Given the description of an element on the screen output the (x, y) to click on. 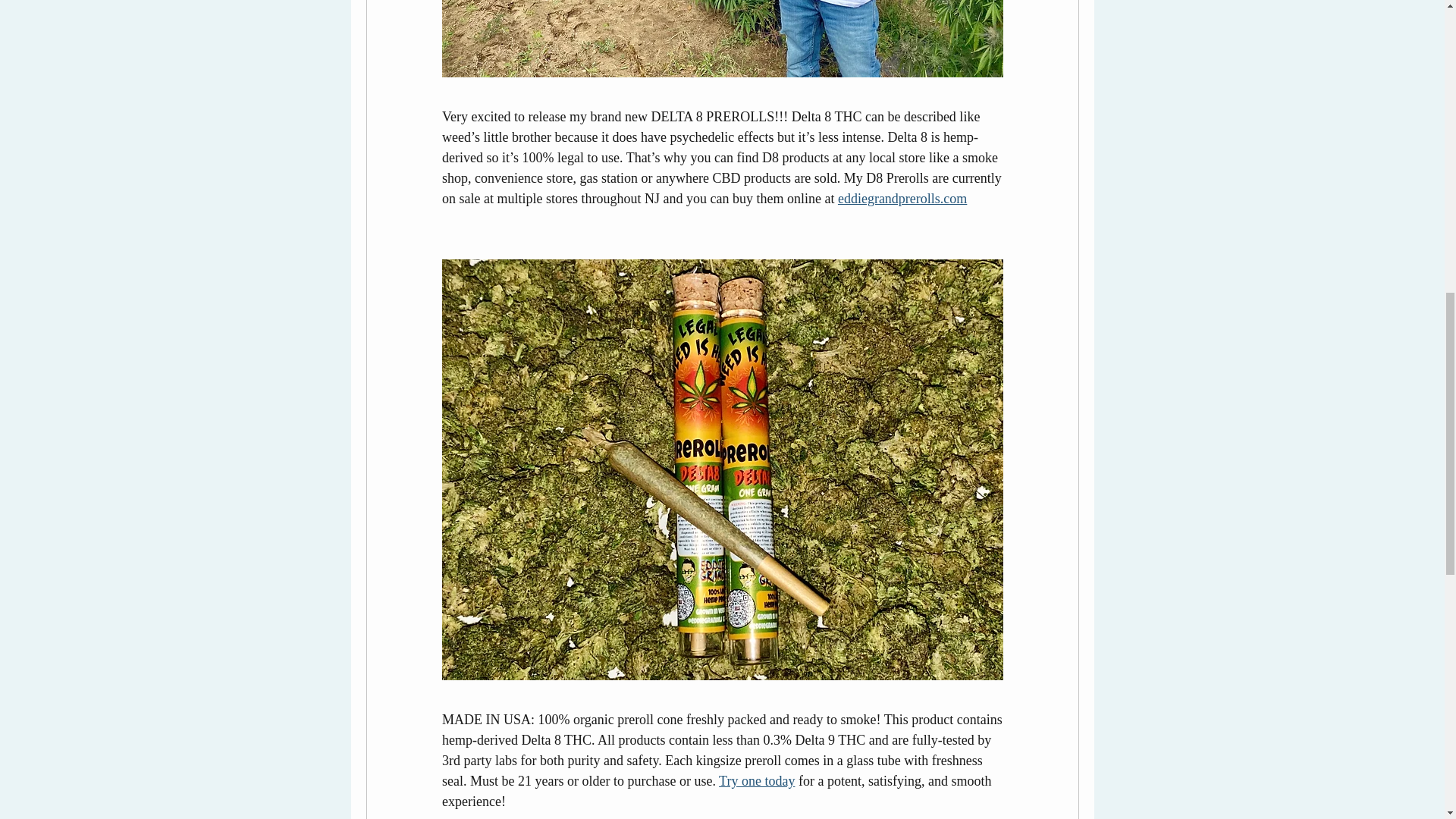
Try one today (756, 780)
eddiegrandprerolls.com (901, 198)
